Given the description of an element on the screen output the (x, y) to click on. 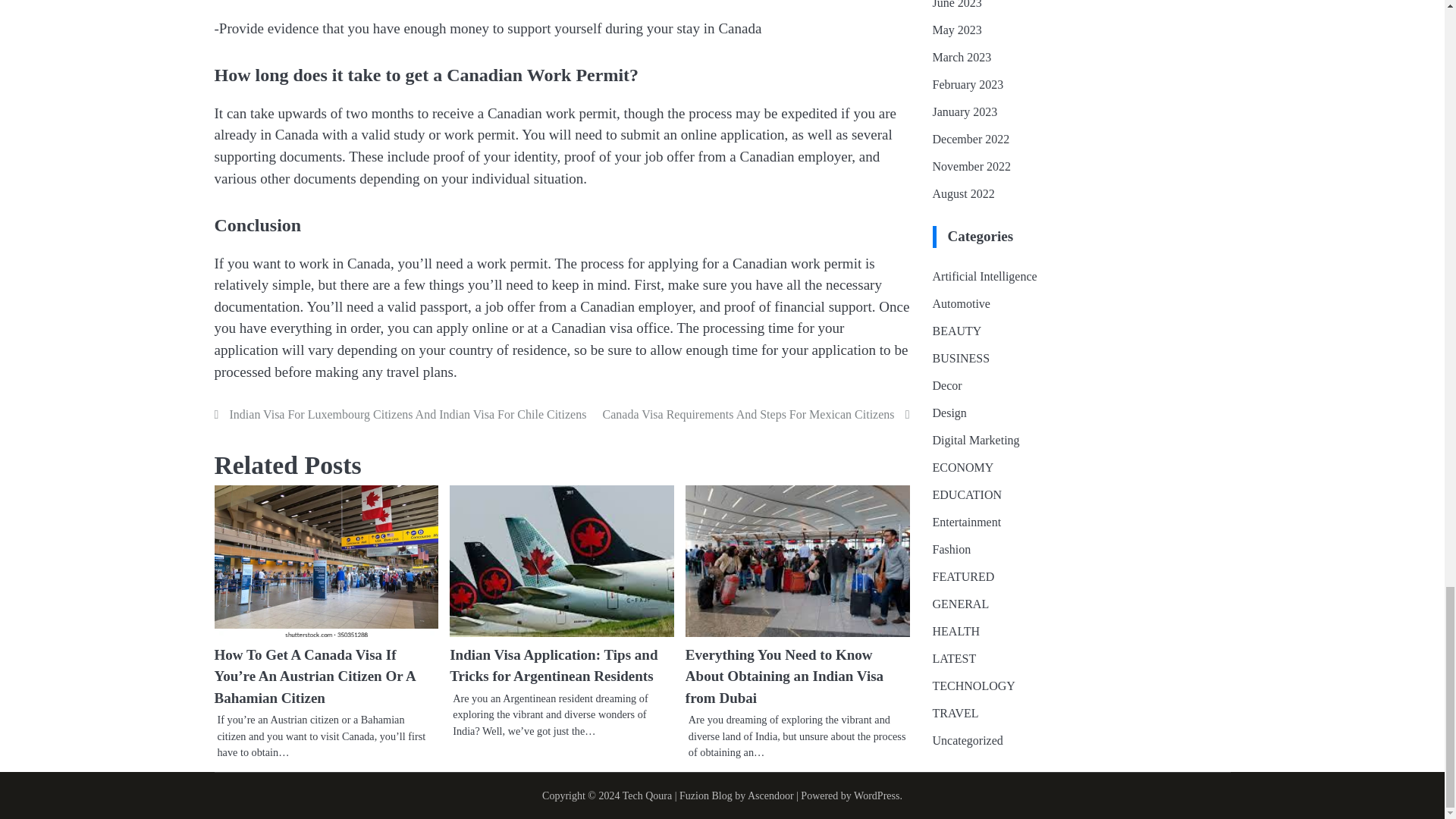
Canada Visa Requirements And Steps For Mexican Citizens (756, 413)
